Given the description of an element on the screen output the (x, y) to click on. 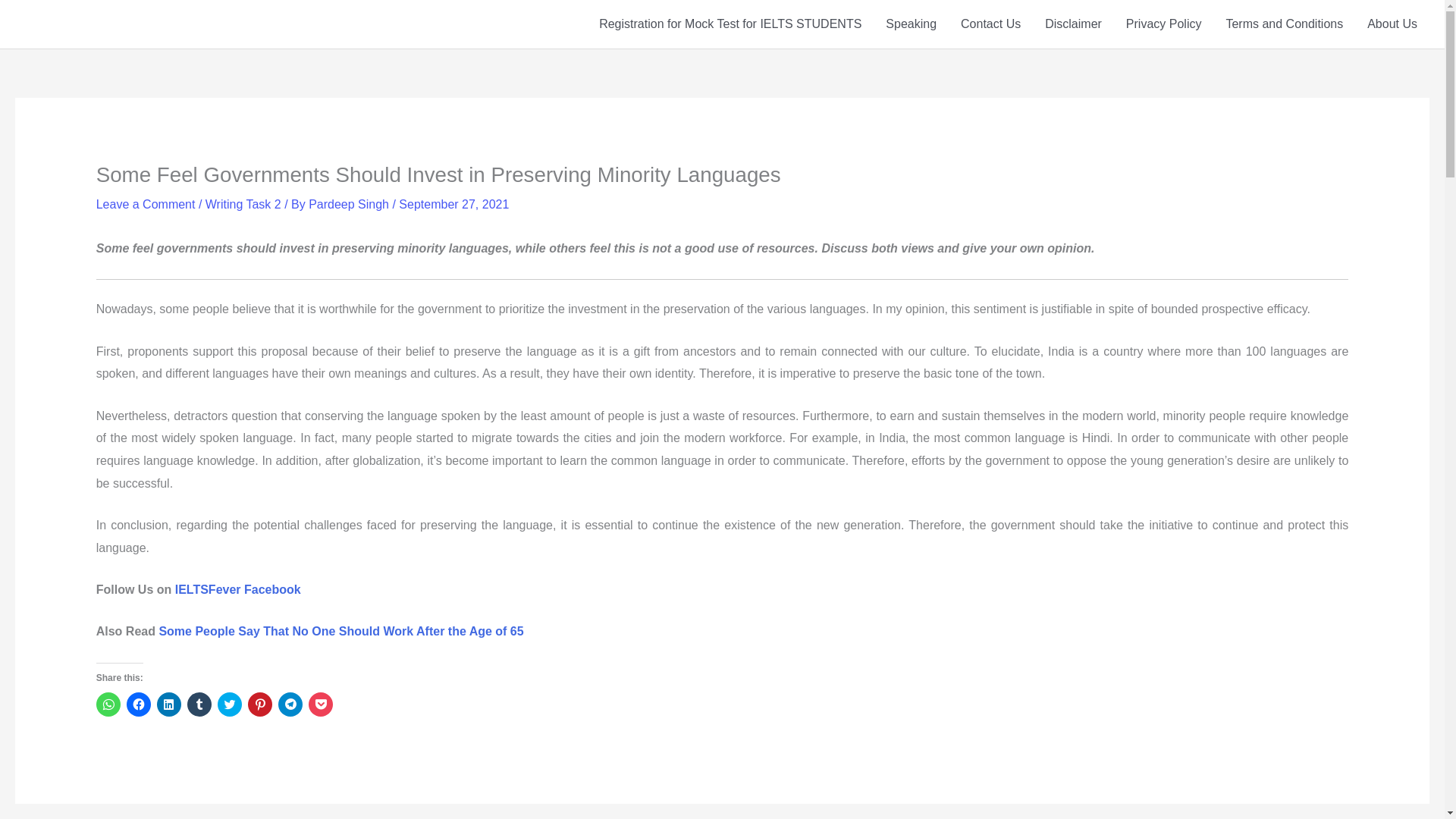
About Us (1392, 24)
Click to share on Facebook (138, 704)
Click to share on Twitter (228, 704)
Click to share on Pocket (320, 704)
Privacy Policy (1163, 24)
Writing Task 2 (243, 204)
Terms and Conditions (1283, 24)
Leave a Comment (145, 204)
Click to share on LinkedIn (168, 704)
Some People Say That No One Should Work After the Age of 65 (340, 631)
